Given the description of an element on the screen output the (x, y) to click on. 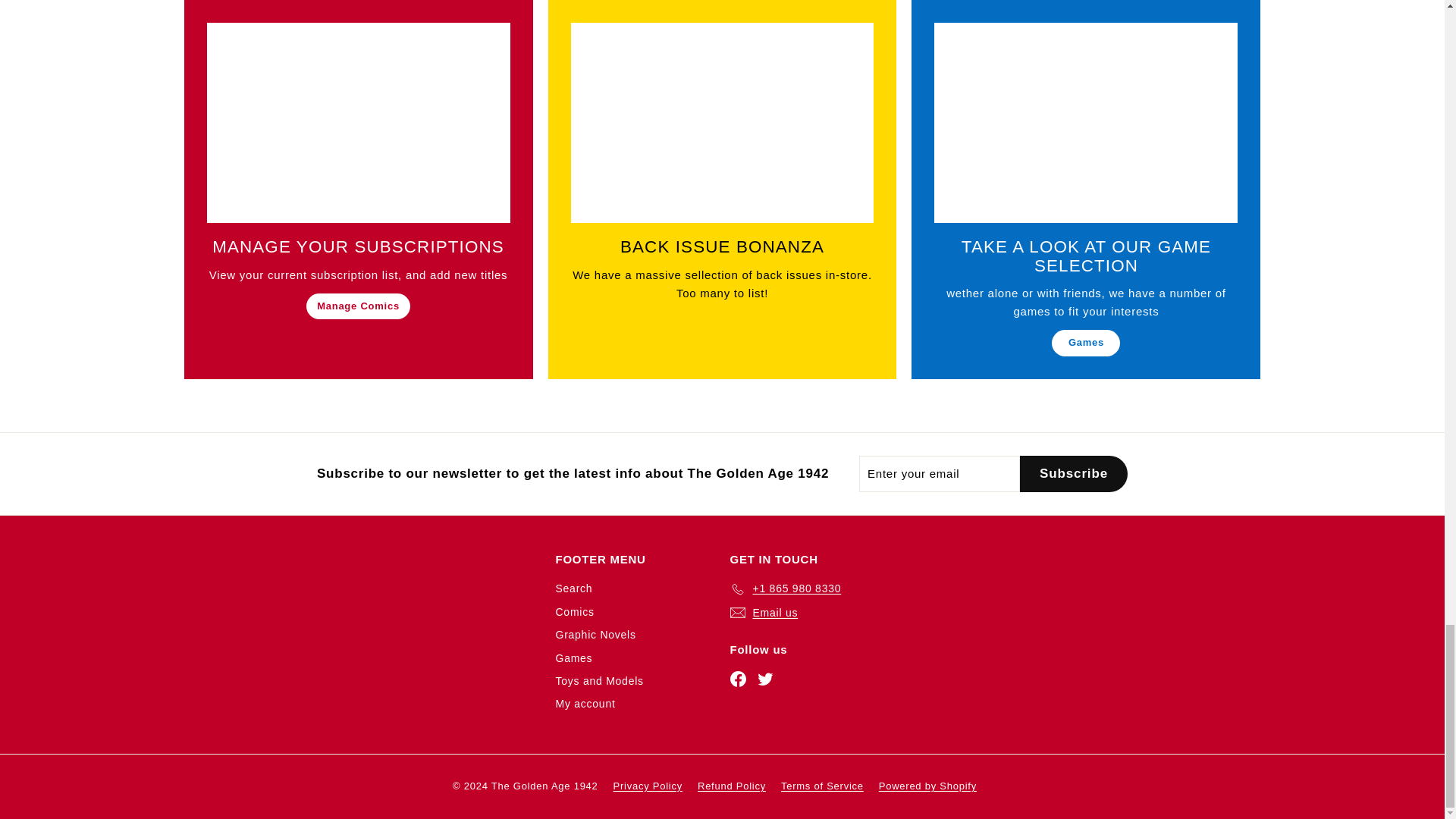
The Golden Age 1942 on Facebook (737, 678)
The Golden Age 1942 on Twitter (765, 678)
twitter (765, 678)
